Given the description of an element on the screen output the (x, y) to click on. 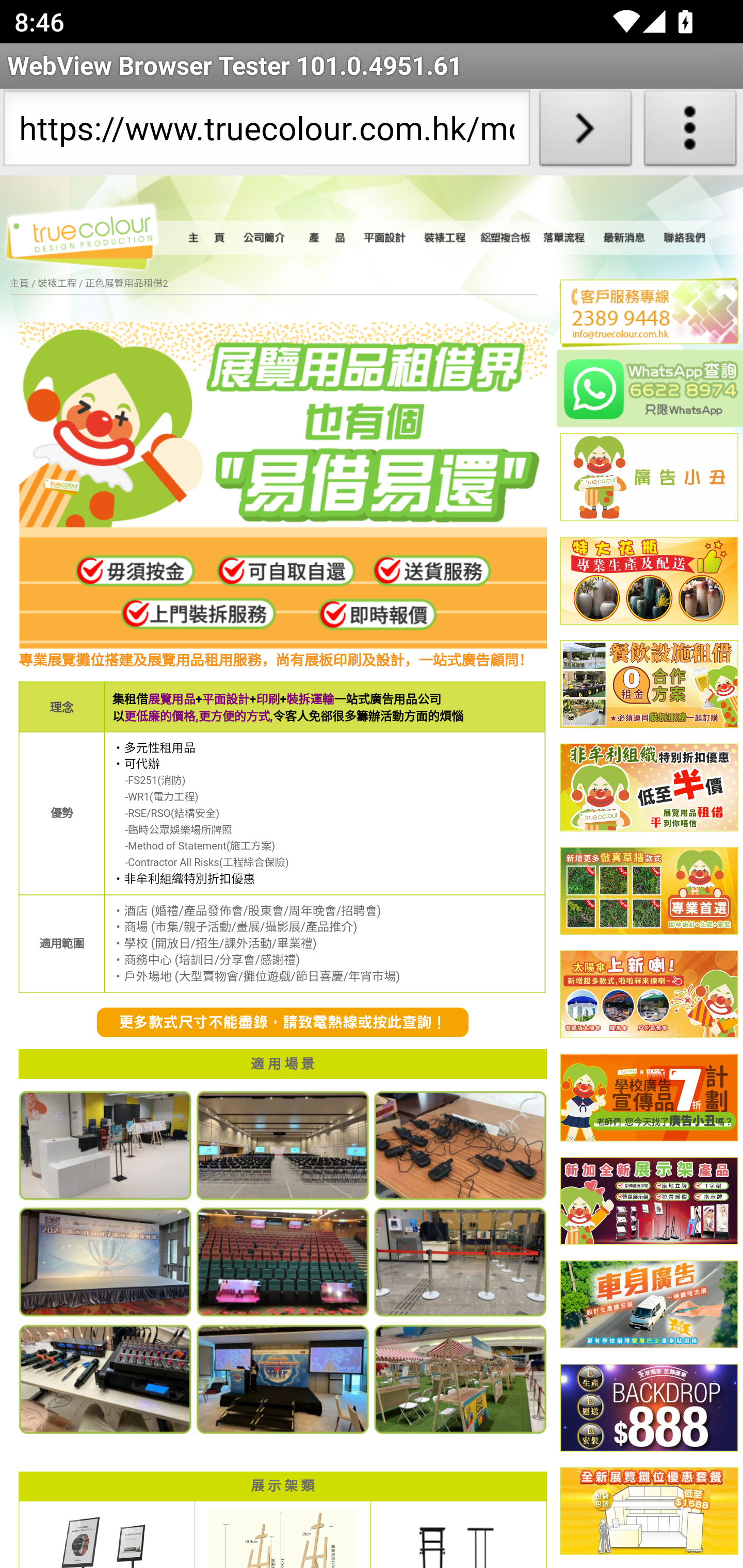
Load URL (585, 132)
About WebView (690, 132)
true colour DESIGN PRODUCTION (92, 234)
主頁 (209, 238)
公司簡介 (266, 238)
產品 (326, 238)
稿件設計 (386, 238)
裝裱工程 (445, 238)
鋁塑板 (505, 238)
落單流程 (564, 238)
最新清息 (624, 238)
聯絡我們 (685, 238)
主頁 (18, 283)
mailto:info@truecolour.com (641, 334)
WhatsApp (649, 388)
%E8%8A%B1%E7%93%B6%E5%B0%8F1 (648, 581)
%E9%A4%90%E9%A3%B2banner%E5%B0%8F (648, 684)
%E9%9D%9E%E7%89%9F%E5%88%A9 (648, 788)
banner-%E5%81%87%E8%8D%89%E6%96%B04 (648, 891)
%E5%A4%AA%E9%99%BD%E5%82%982 (648, 994)
contactus (282, 1022)
banner%E5%AD%B8%E6%A0%A1%E6%96%B0 (648, 1098)
%E5%B1%95%E7%A4%BA%E6%9E%B611 (648, 1201)
banner-%E8%BB%8A%E8%B2%BC1 (648, 1305)
banner-brodrop (648, 1408)
banner-%E5%B1%95%E6%9C%83 (648, 1512)
